Given the description of an element on the screen output the (x, y) to click on. 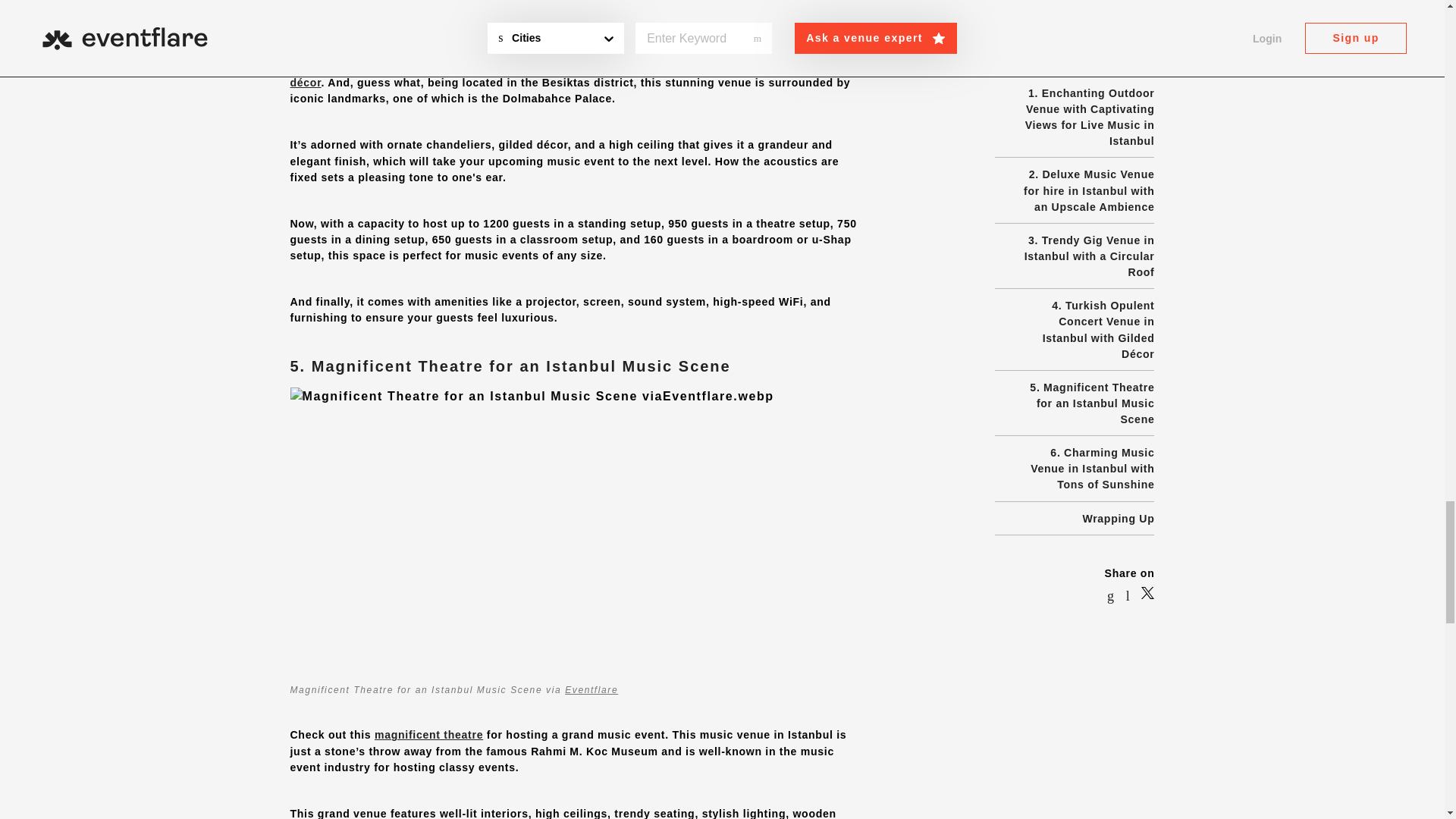
Eventflare (590, 689)
magnificent theatre (428, 734)
Eventflare (655, 21)
